Given the description of an element on the screen output the (x, y) to click on. 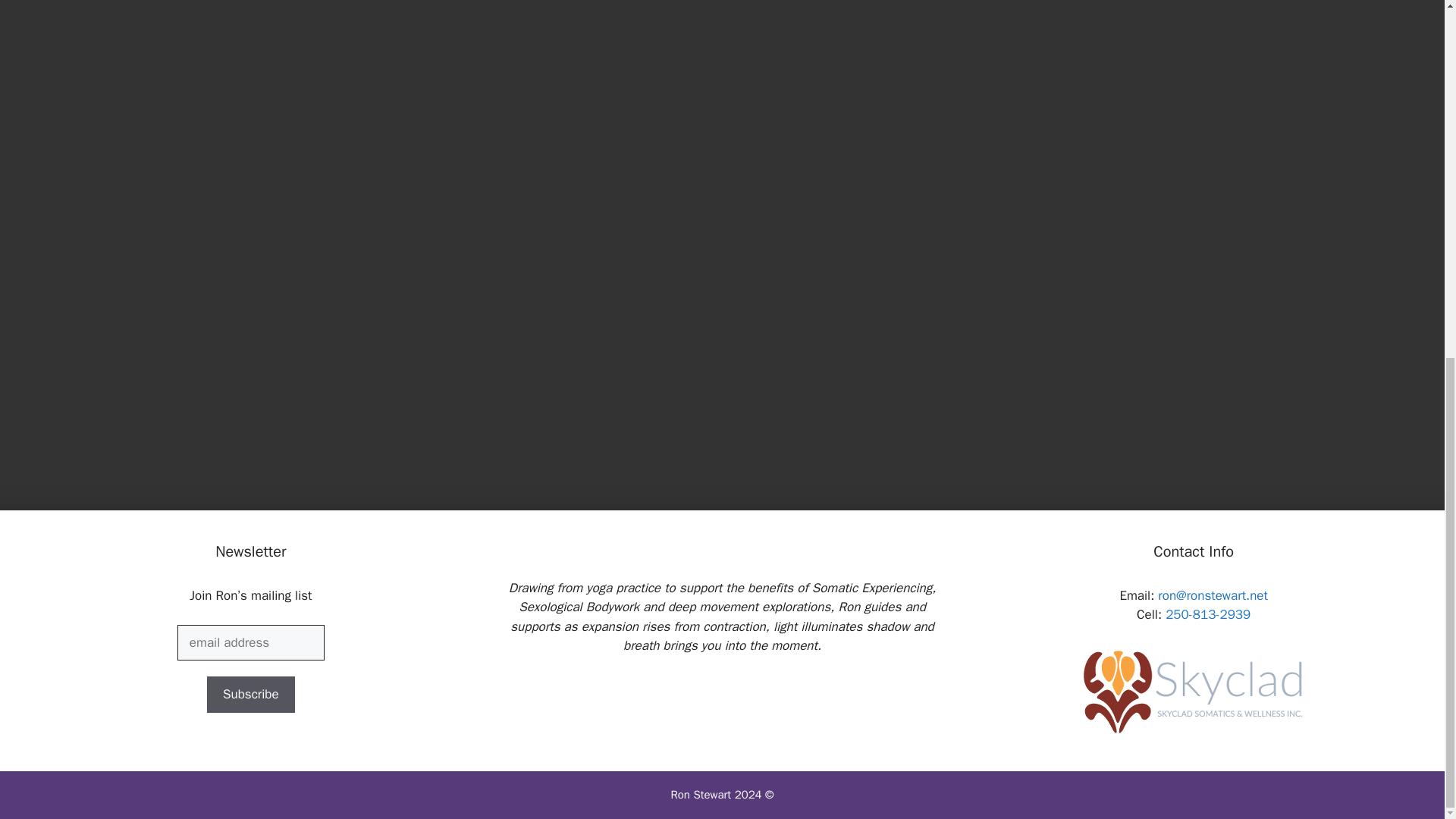
Subscribe (250, 694)
Subscribe (250, 694)
250-813-2939 (1208, 614)
